Given the description of an element on the screen output the (x, y) to click on. 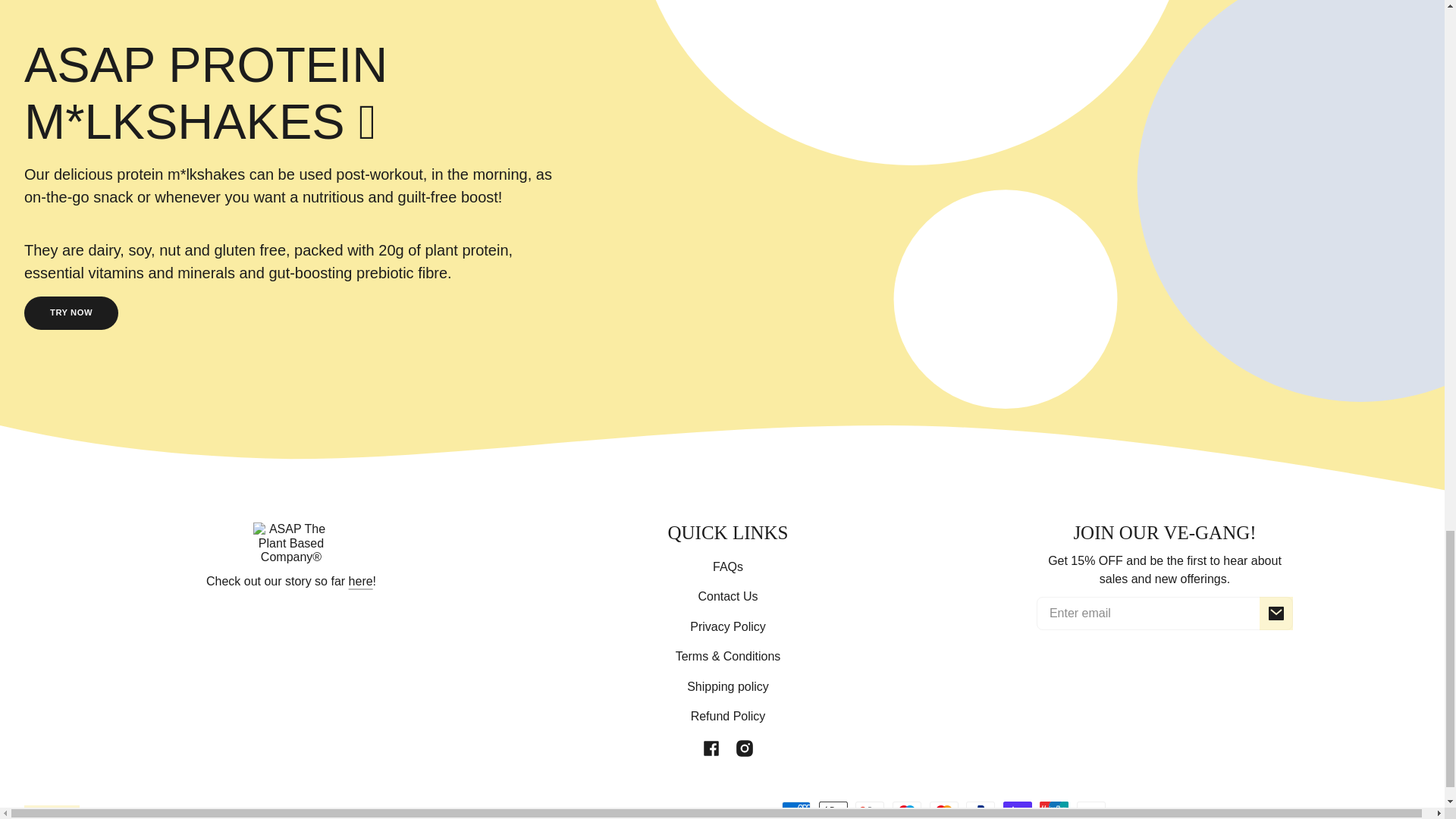
PayPal (980, 810)
FAQs (727, 566)
Our Story (360, 581)
Shop Pay (1017, 810)
Privacy Policy (727, 626)
Facebook (711, 748)
American Express (795, 810)
here (360, 581)
Mastercard (944, 810)
Instagram (744, 748)
